Given the description of an element on the screen output the (x, y) to click on. 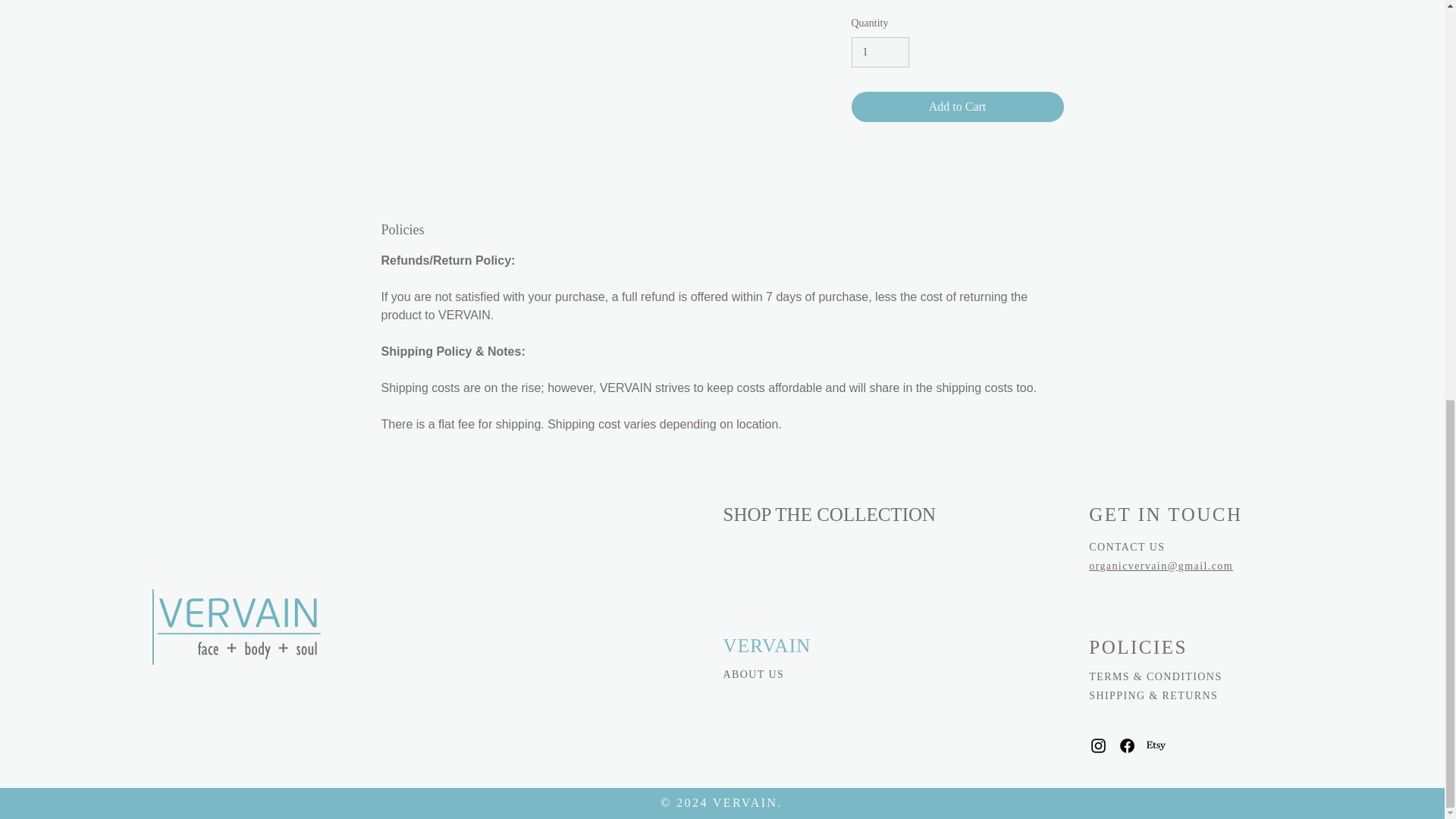
VERVAIN (766, 645)
1 (879, 51)
Add to Cart (956, 106)
CONTACT US (1126, 546)
ABOUT US (753, 674)
SHOP THE COLLECTION (829, 514)
